Given the description of an element on the screen output the (x, y) to click on. 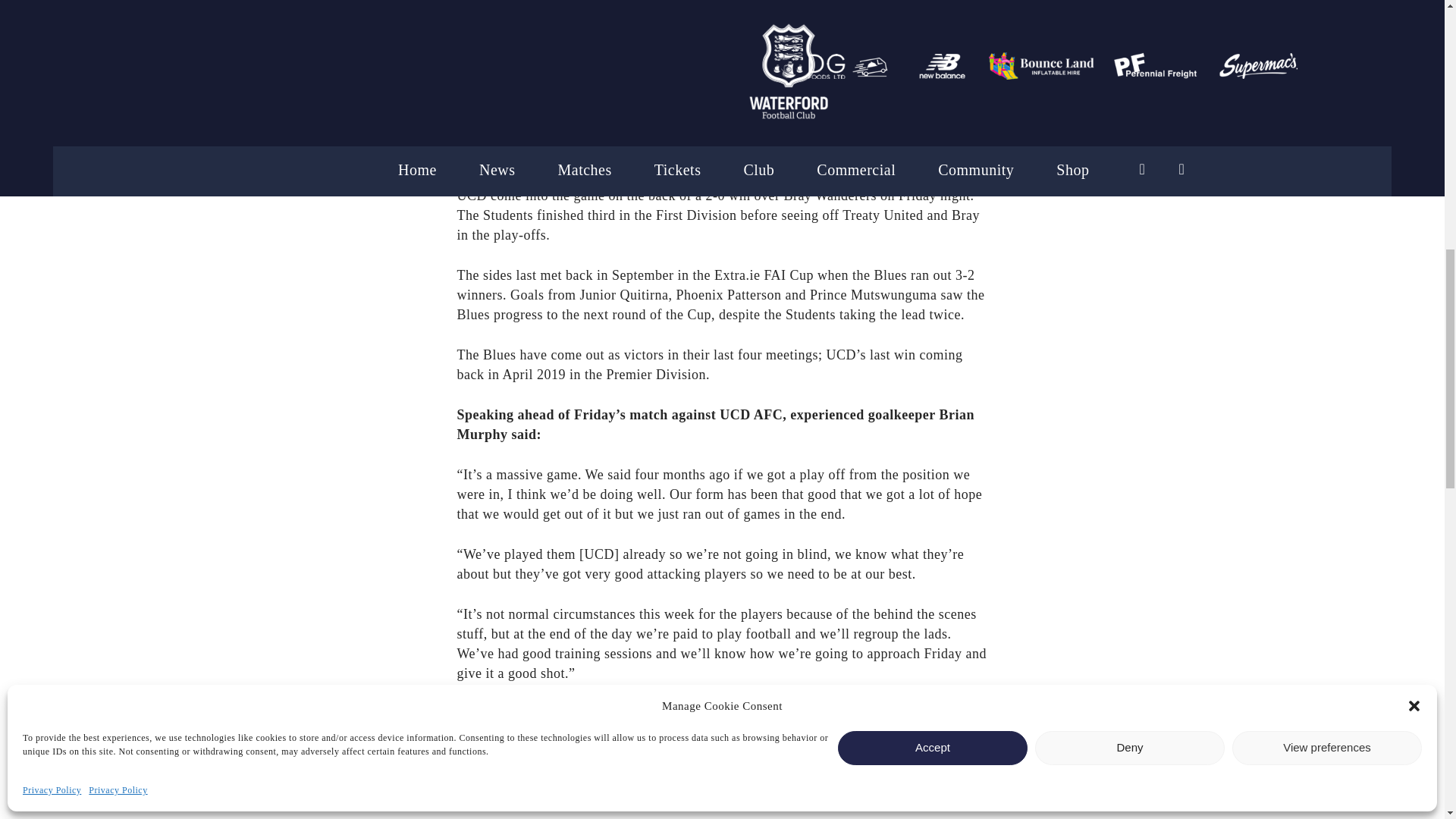
View preferences (1326, 338)
Privacy Policy (117, 380)
Accept (932, 338)
Privacy Policy (52, 380)
Deny (1129, 338)
